Given the description of an element on the screen output the (x, y) to click on. 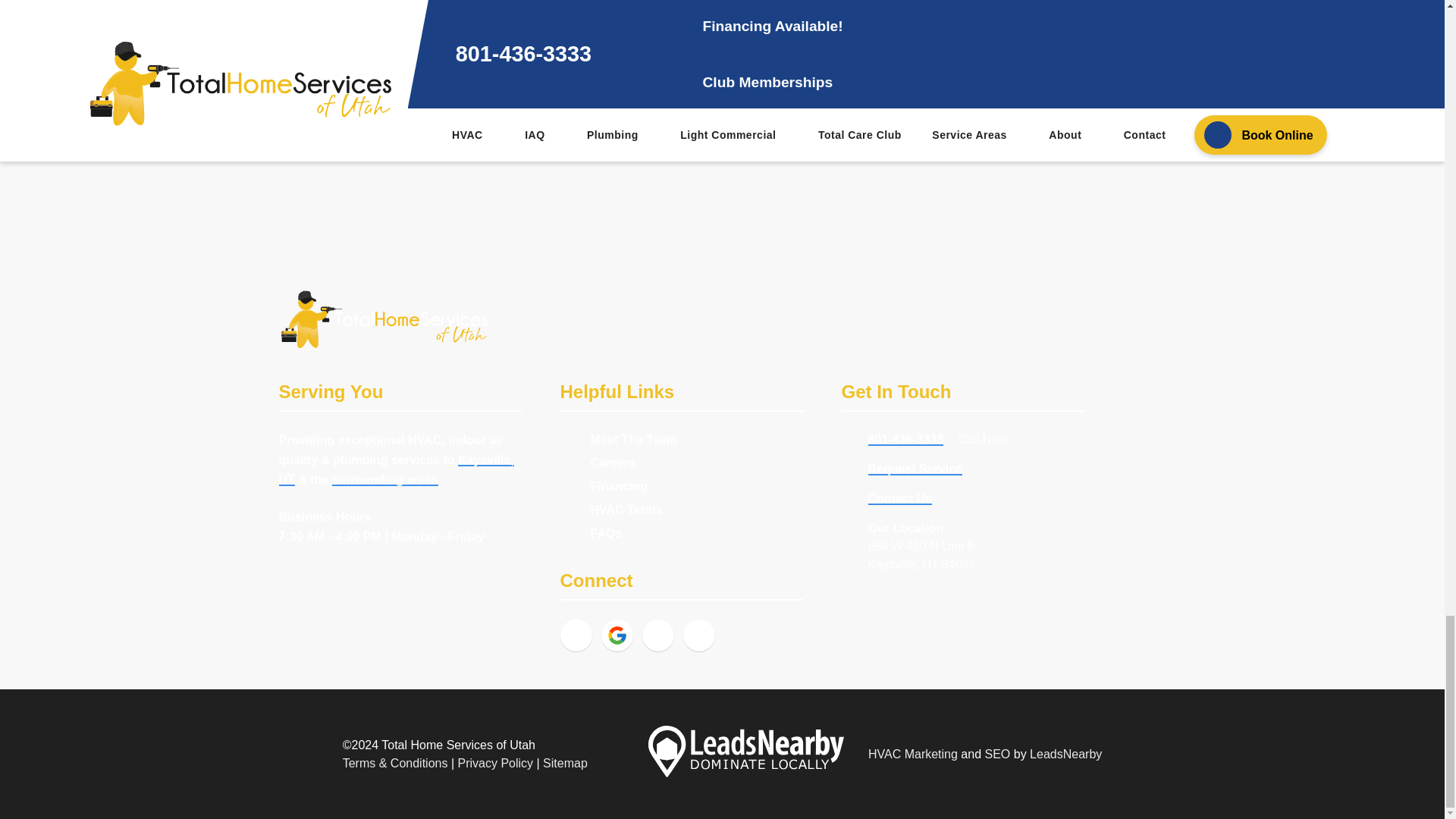
surrounding areas (384, 479)
SEO (997, 753)
Kaysville, UT (396, 469)
HVAC Marketing (912, 753)
LeadsNearby SEO Marketing Agency (1065, 753)
LeadsNearby SEO Marketing Agency (745, 753)
